Given the description of an element on the screen output the (x, y) to click on. 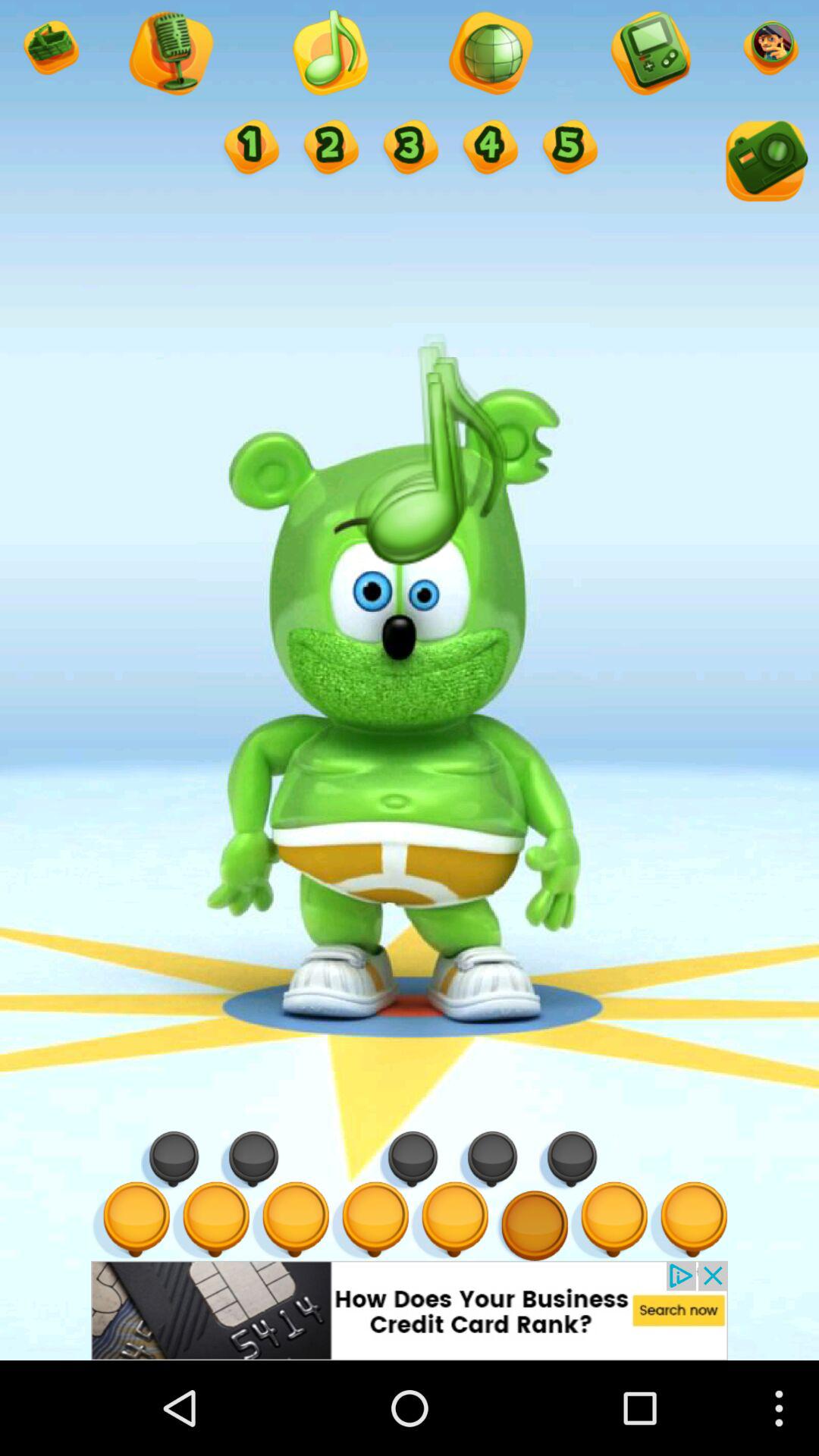
contact in phone (649, 55)
